Given the description of an element on the screen output the (x, y) to click on. 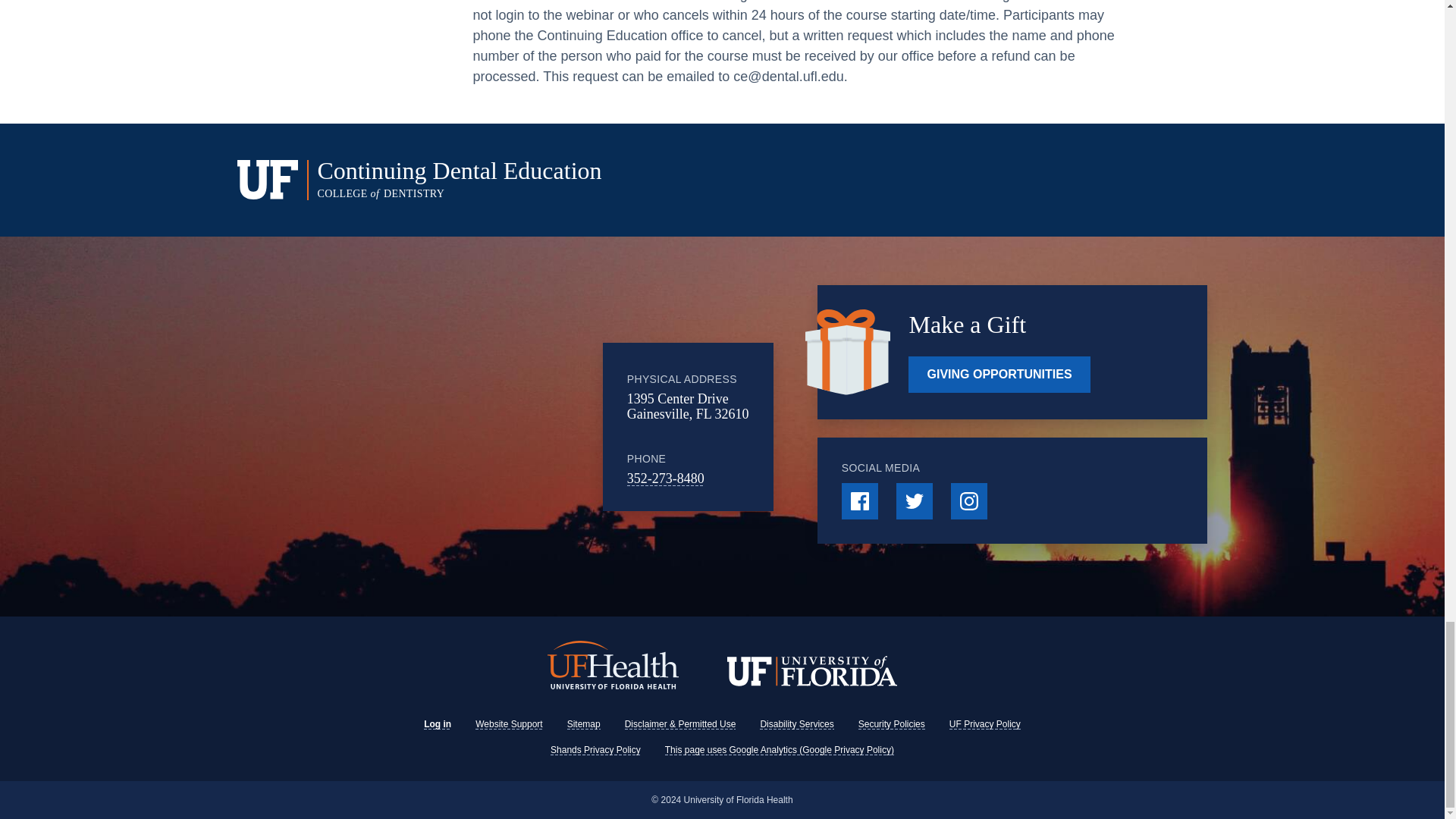
352-273-8480 (665, 478)
Sitemap (583, 724)
Log in (437, 724)
Google Maps Embed (478, 426)
Disability Services (796, 724)
UF Privacy Policy (984, 724)
Security Policies (891, 724)
Website Support (509, 724)
Shands Privacy Policy (595, 749)
